Given the description of an element on the screen output the (x, y) to click on. 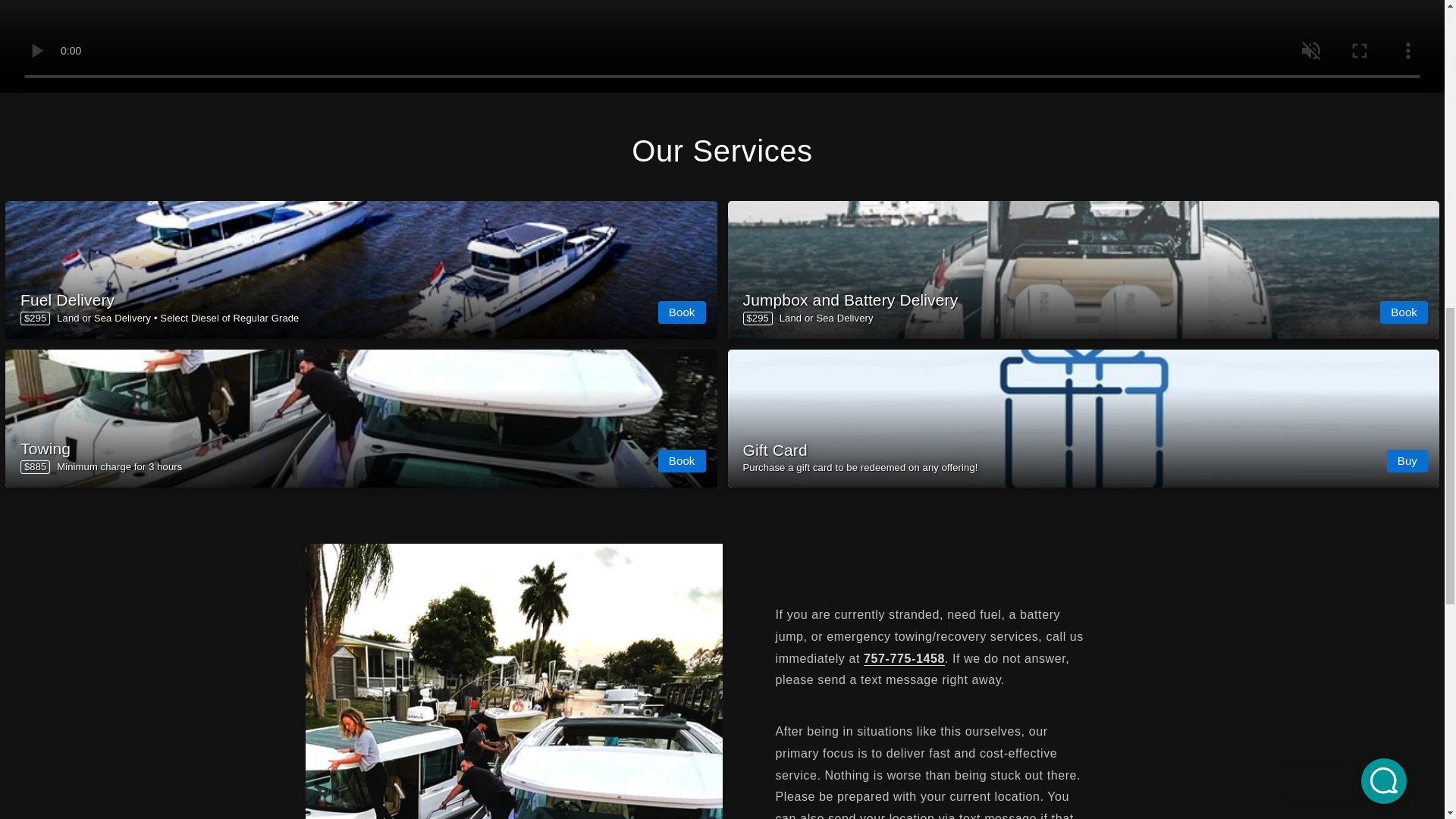
757-775-1458 (903, 658)
FareHarbor (1342, 64)
